Given the description of an element on the screen output the (x, y) to click on. 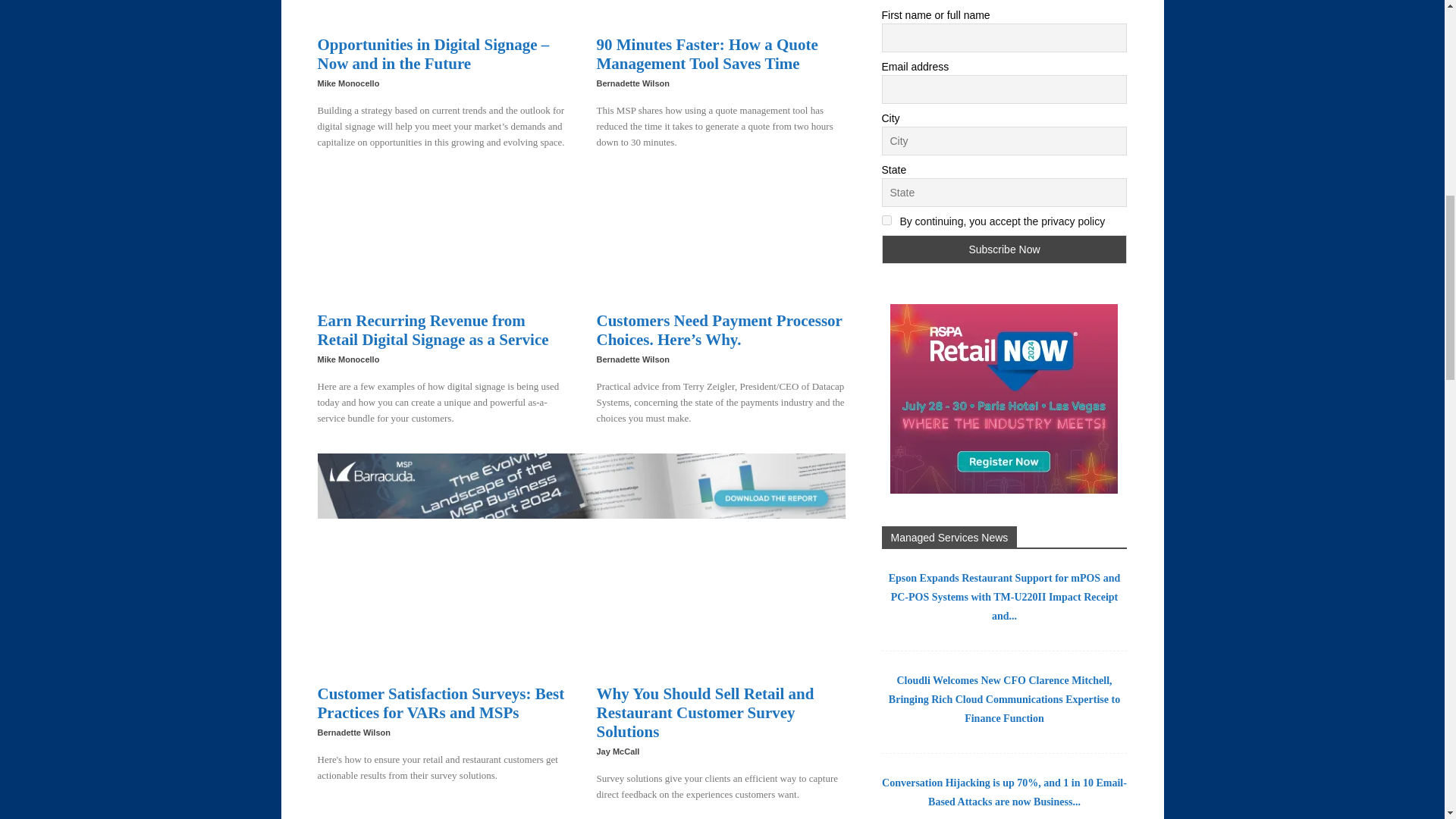
on (885, 220)
Subscribe Now (1003, 249)
